Given the description of an element on the screen output the (x, y) to click on. 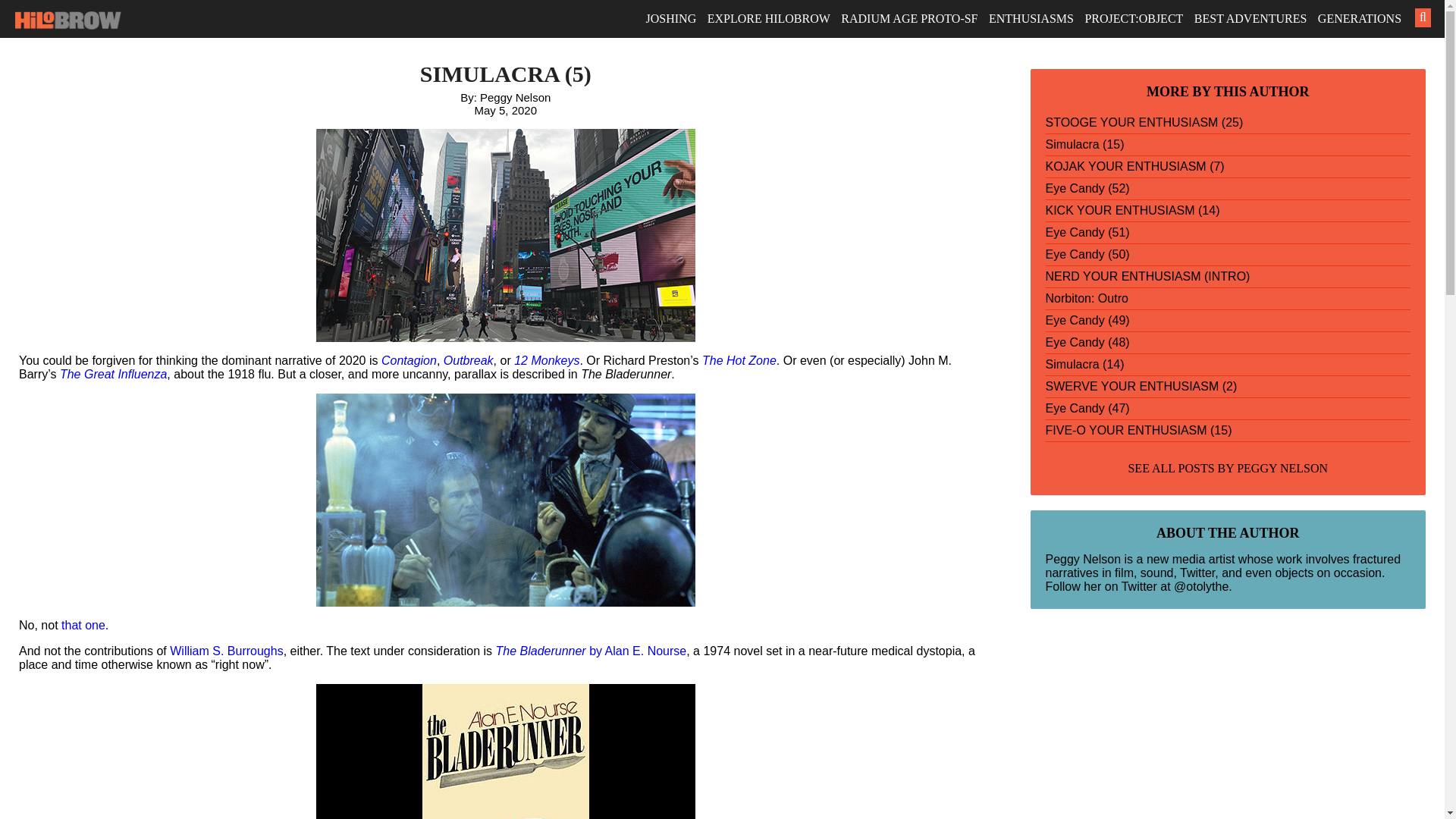
Posts by Peggy Nelson (1281, 468)
EXPLORE HILOBROW (768, 18)
RADIUM AGE PROTO-SF (908, 18)
JOSHING (671, 18)
